Given the description of an element on the screen output the (x, y) to click on. 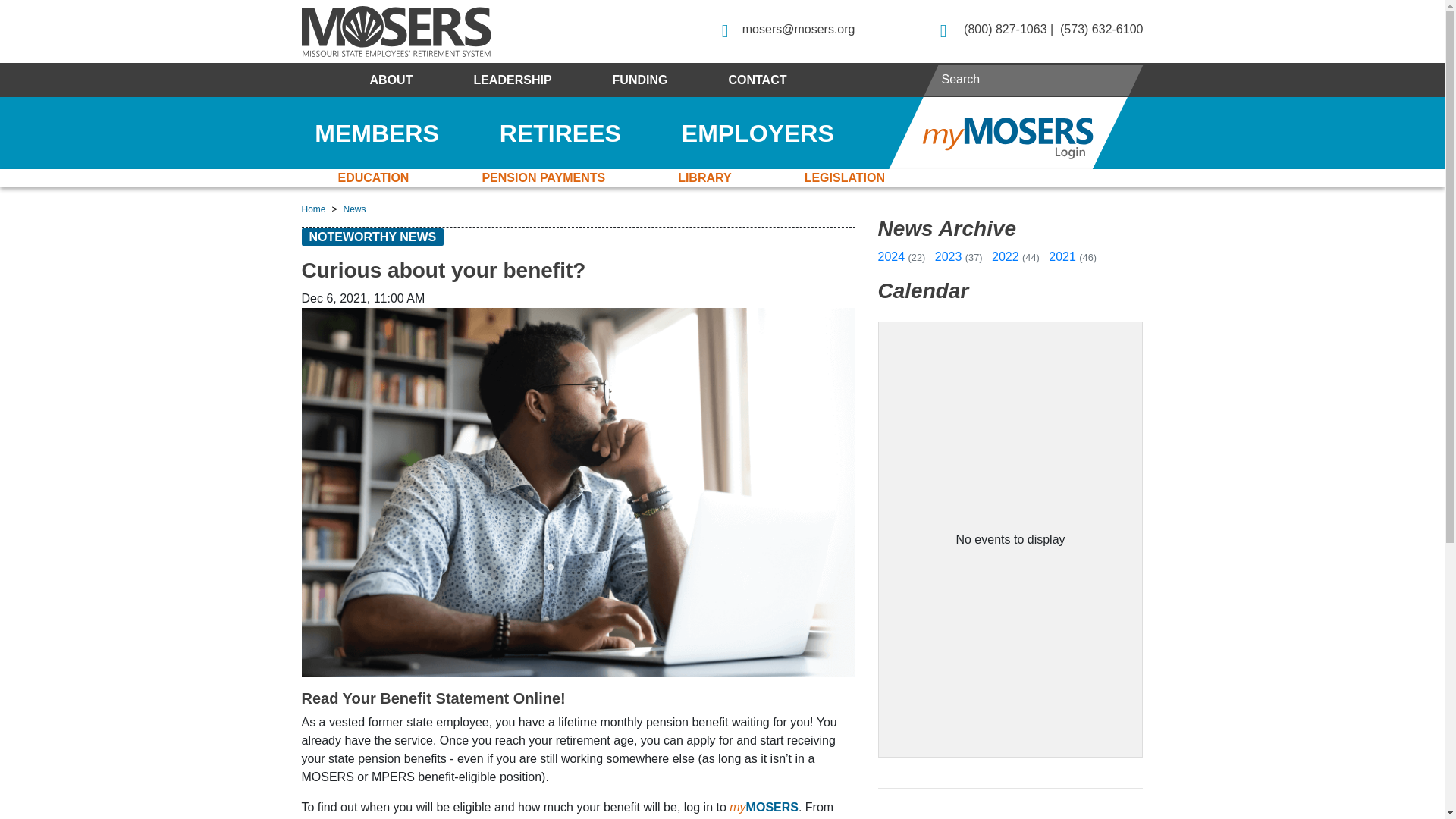
MOSERS Home (396, 30)
RETIREES (559, 133)
EMPLOYERS (757, 133)
LEADERSHIP (511, 80)
ABOUT (391, 80)
EDUCATION (373, 177)
FUNDING (640, 80)
LEGISLATION (844, 177)
MEMBERS (375, 133)
